Given the description of an element on the screen output the (x, y) to click on. 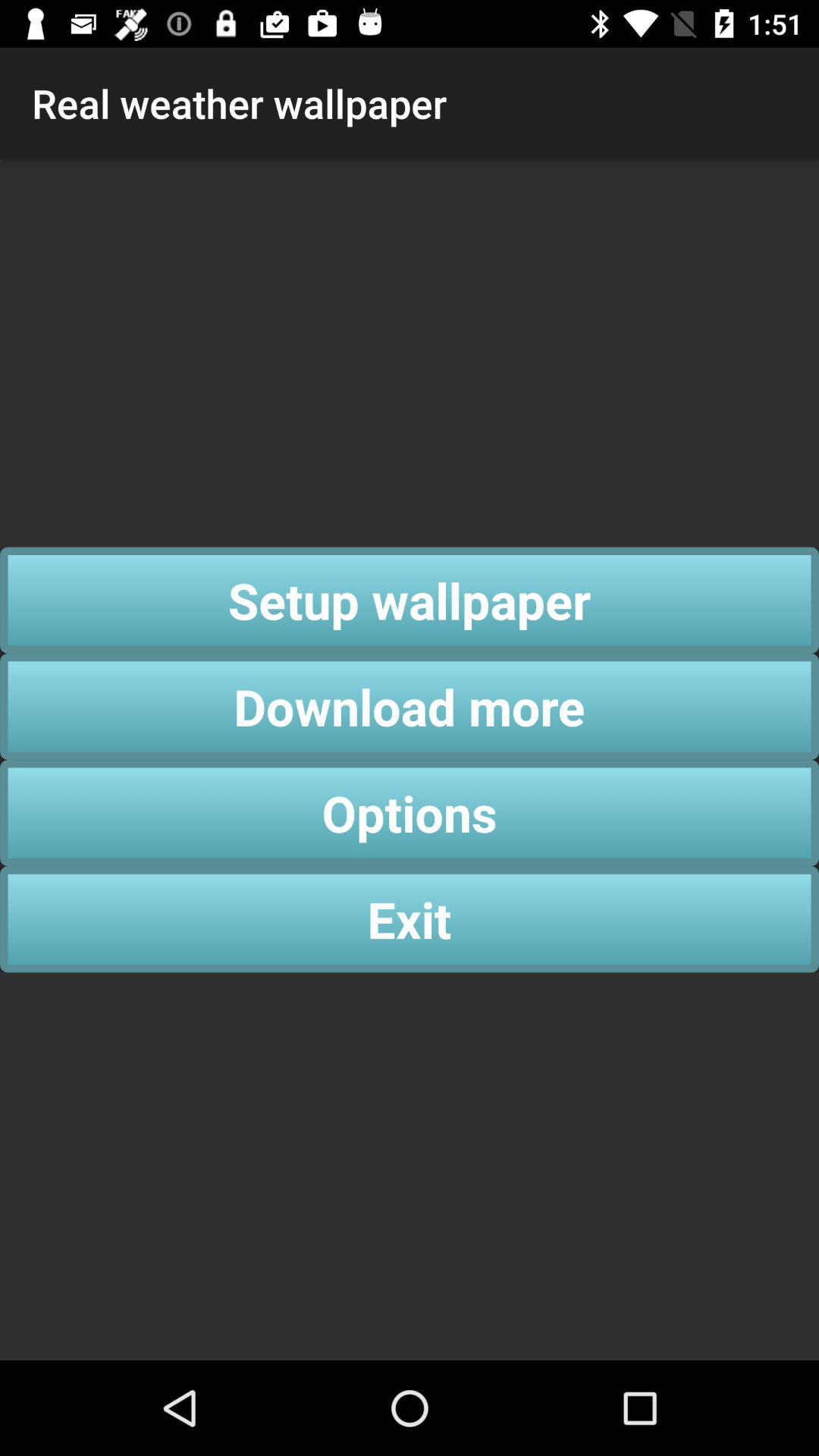
swipe until exit icon (409, 919)
